Given the description of an element on the screen output the (x, y) to click on. 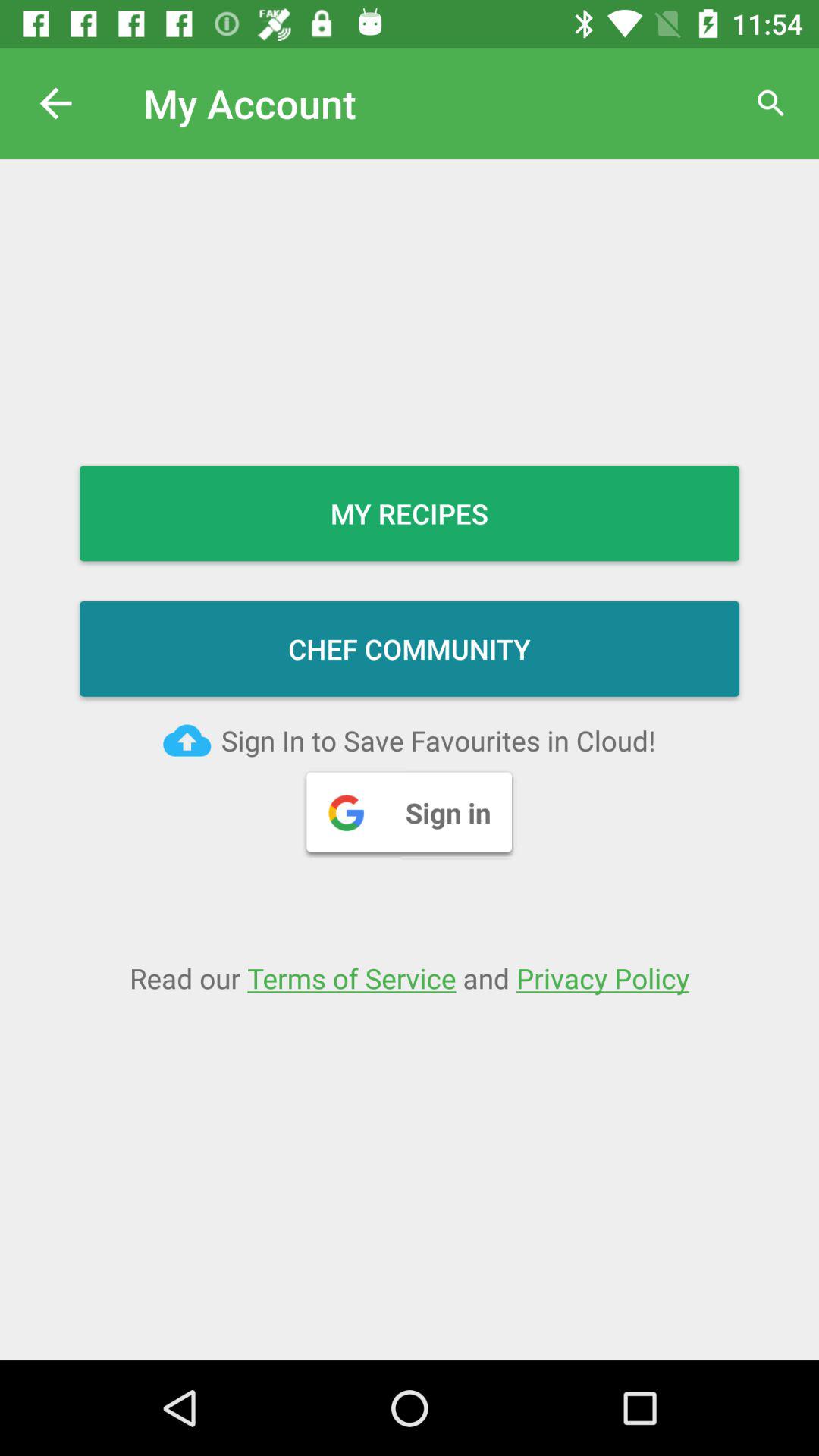
click on the search icon which is on top right of the page (771, 103)
click on g sign in (409, 812)
